Given the description of an element on the screen output the (x, y) to click on. 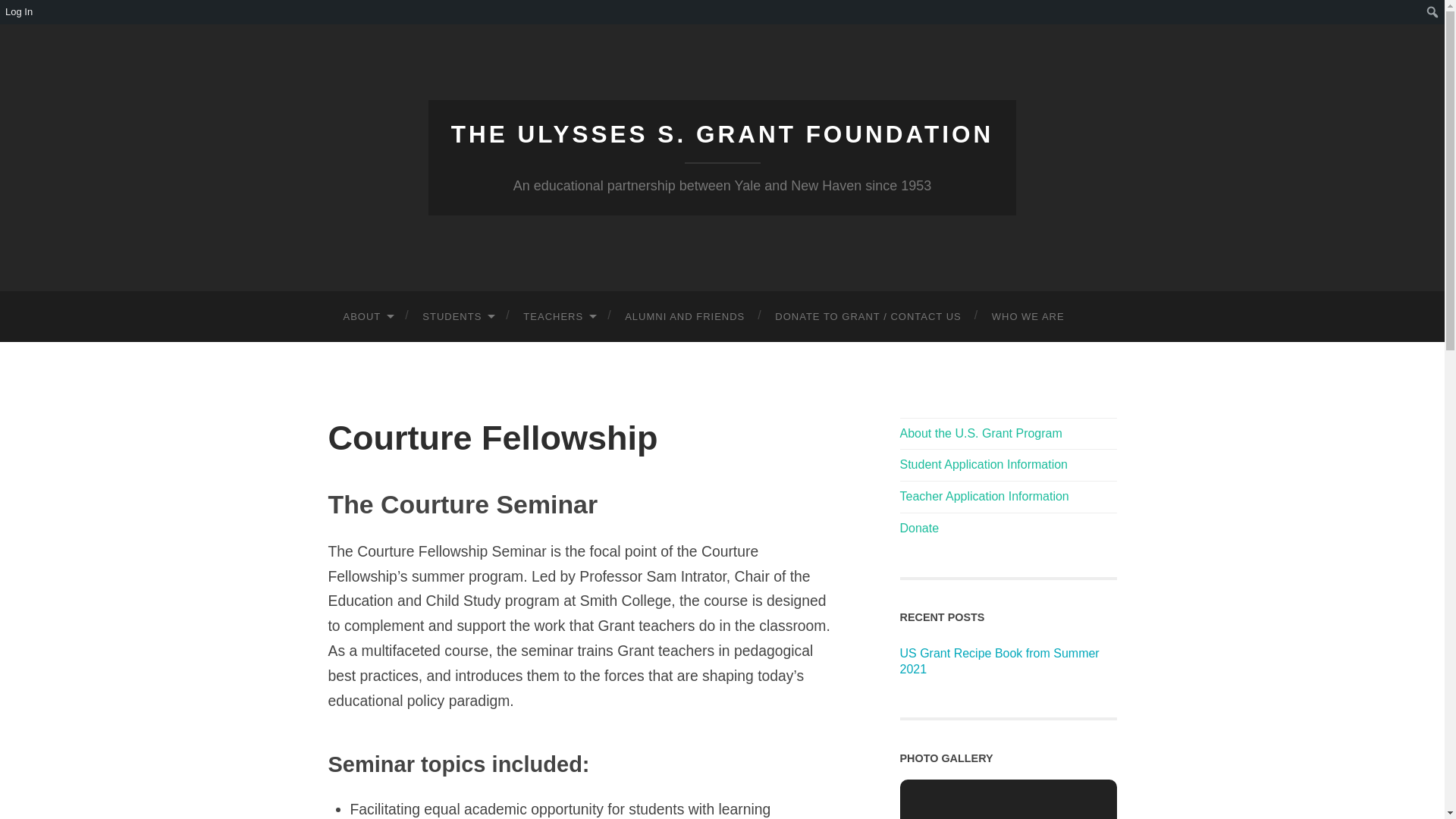
Student Application Information (983, 463)
About the U.S. Grant Program (980, 431)
STUDENTS (457, 316)
THE ULYSSES S. GRANT FOUNDATION (722, 134)
Donate (919, 527)
ABOUT (367, 316)
TEACHERS (559, 316)
WHO WE ARE (1028, 316)
US Grant Recipe Book from Summer 2021 (999, 661)
Teacher Application Information (983, 495)
